Given the description of an element on the screen output the (x, y) to click on. 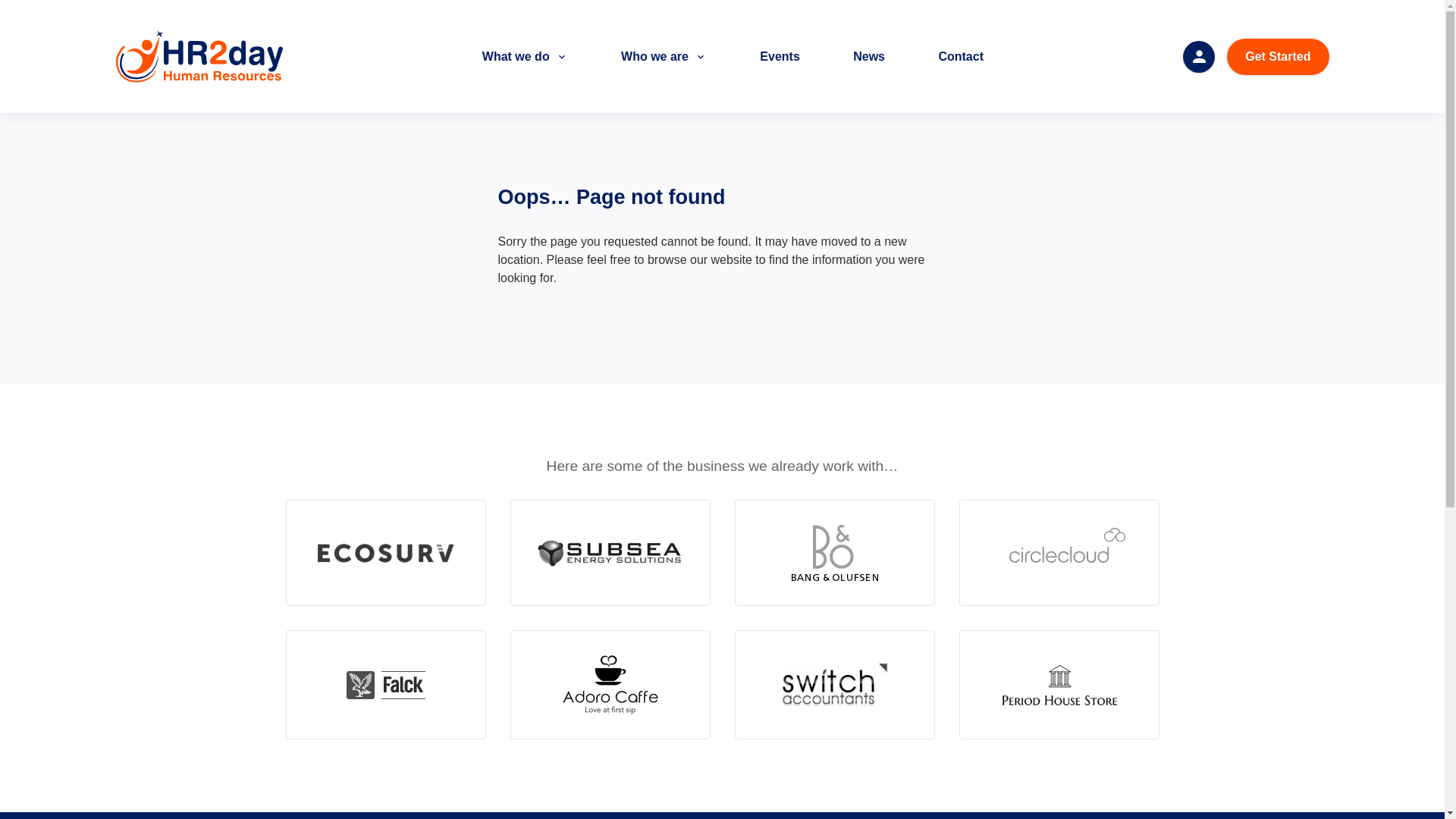
Contact (960, 55)
Who we are (663, 55)
Login (1198, 56)
What we do (524, 55)
Get Started (1277, 55)
News (868, 55)
Events (779, 55)
